Given the description of an element on the screen output the (x, y) to click on. 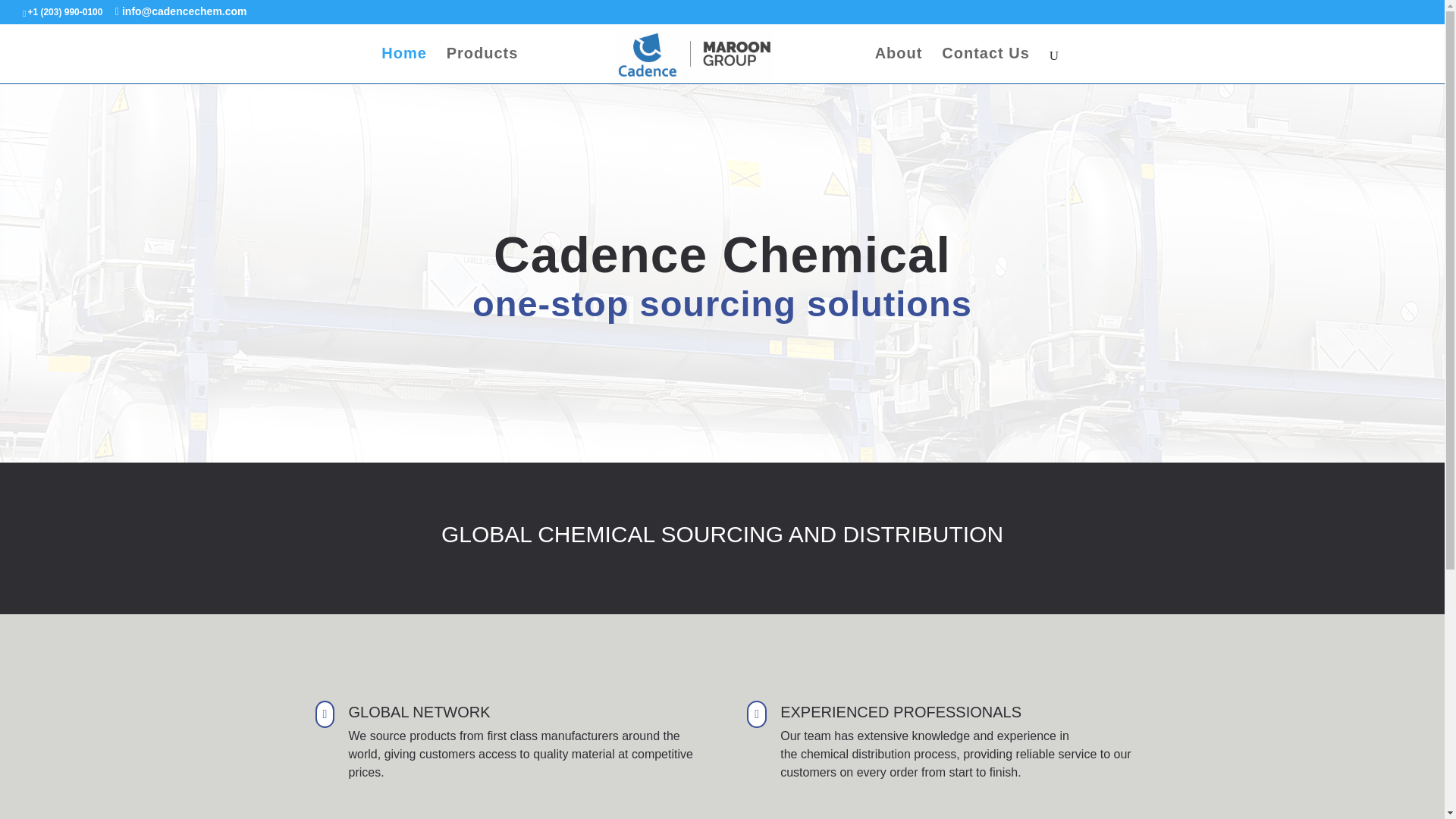
Contact Us (985, 65)
Products (482, 65)
About (899, 65)
Home (403, 65)
